Given the description of an element on the screen output the (x, y) to click on. 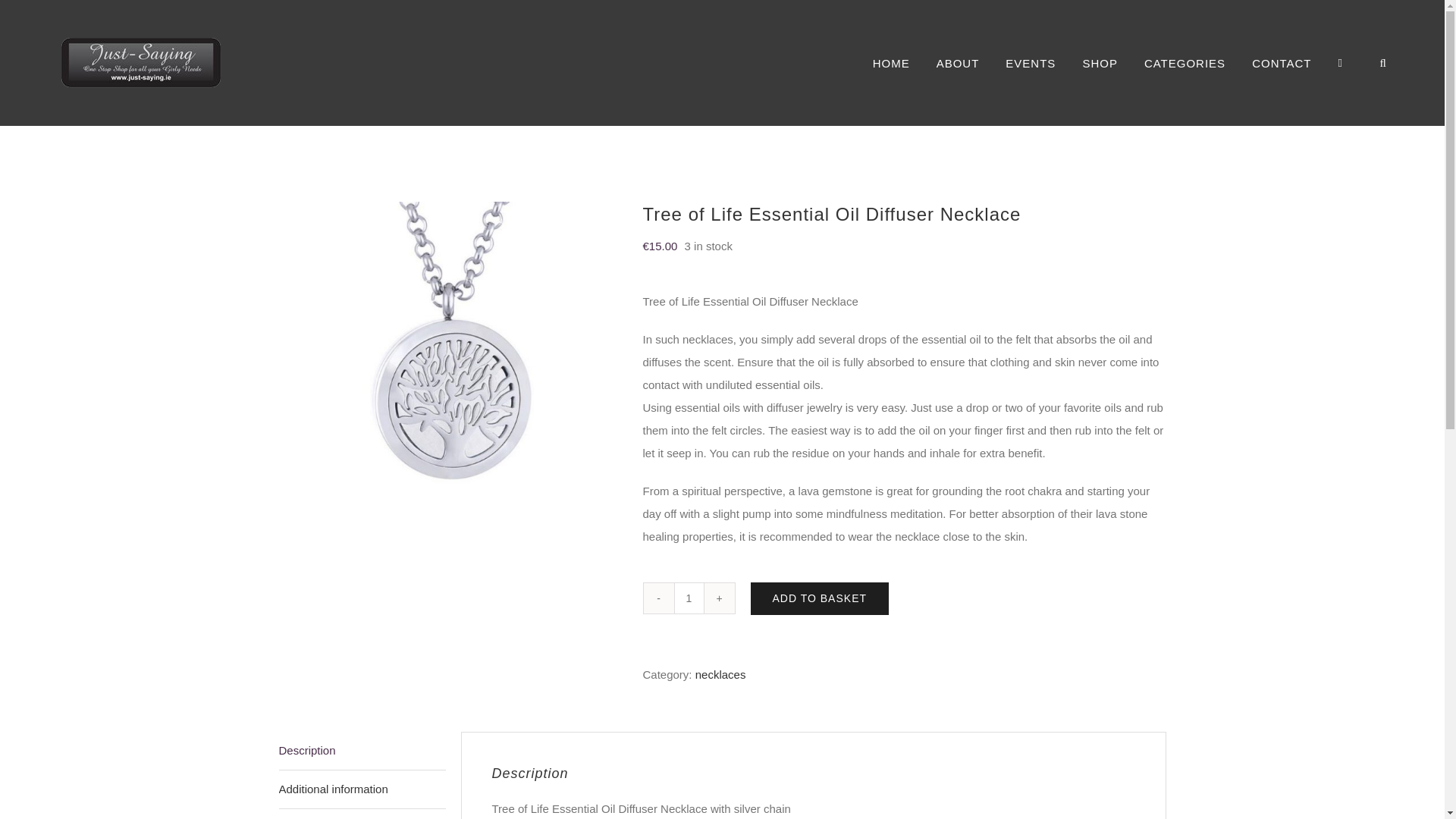
CONTACT (1281, 62)
Qty (687, 598)
EVENTS (1030, 62)
- (657, 598)
CATEGORIES (1184, 62)
1 (687, 598)
